Given the description of an element on the screen output the (x, y) to click on. 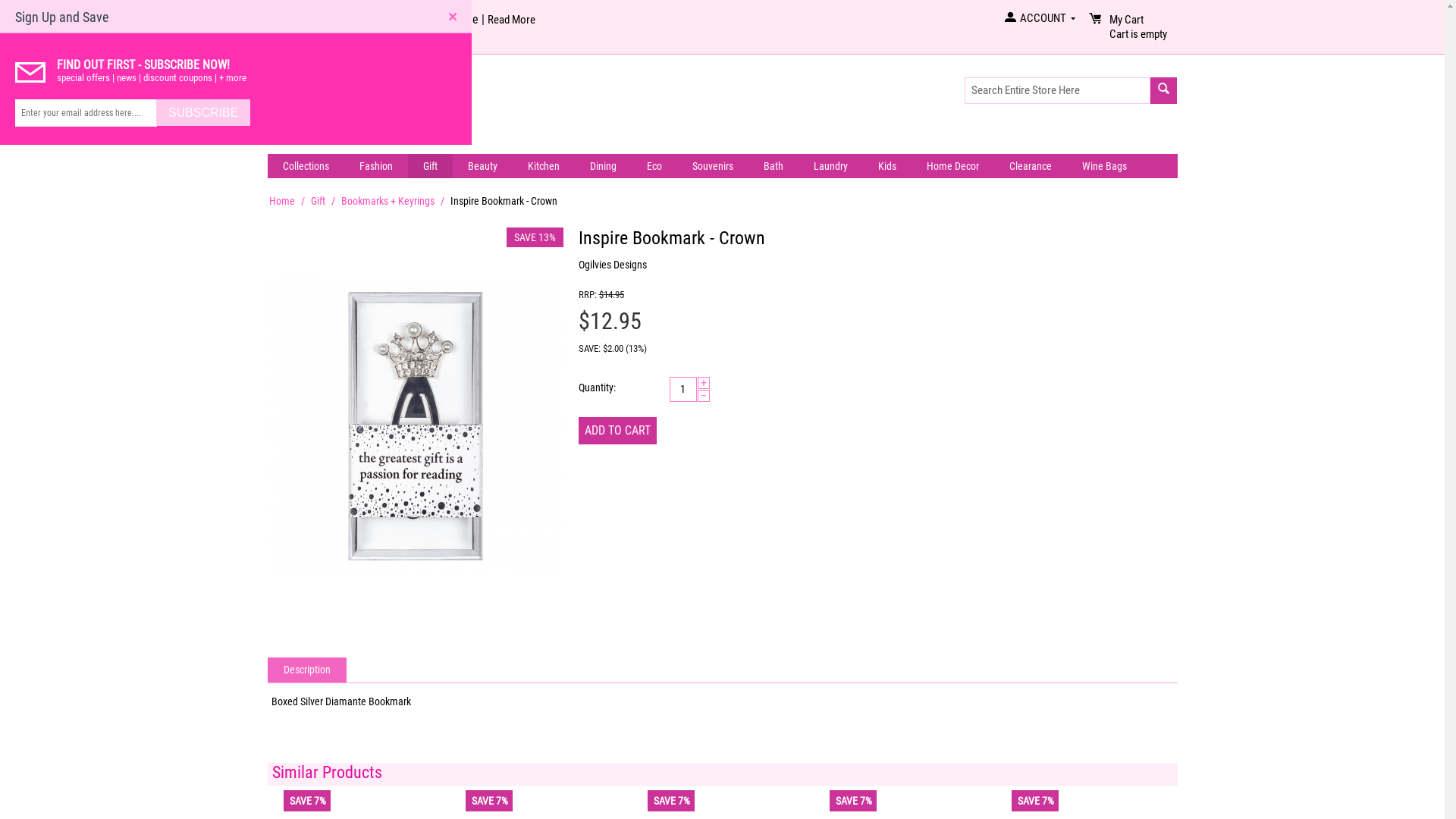
Bath Element type: text (772, 165)
ACCOUNT Element type: text (1038, 18)
Close Element type: text (453, 19)
Home Element type: text (280, 199)
Description Element type: text (307, 668)
Fashion Element type: text (375, 165)
Clearance Element type: text (1029, 165)
Search Element type: hover (1163, 90)
SUBSCRIBE Element type: text (203, 112)
Souvenirs Element type: text (711, 165)
Gift Element type: text (317, 199)
Kitchen Element type: text (543, 165)
Beauty Element type: text (481, 165)
My Cart
Cart is empty Element type: text (1135, 33)
Home Decor Element type: text (952, 165)
Laundry Element type: text (829, 165)
Dining Element type: text (602, 165)
Read More Element type: text (510, 19)
Kids Element type: text (886, 165)
Nicnacnoo - Gifts - Living - Homewares Element type: hover (364, 106)
Bookmarks + Keyrings Element type: text (387, 199)
Collections Element type: text (304, 165)
ADD TO CART Element type: text (616, 431)
Eco Element type: text (653, 165)
Wine Bags Element type: text (1103, 165)
Gift Element type: text (429, 165)
Nicnacnoo - Gifts - Living - Homewares Element type: hover (364, 104)
+ Element type: text (703, 382)
Search Entire Store Here Element type: hover (1057, 90)
